Given the description of an element on the screen output the (x, y) to click on. 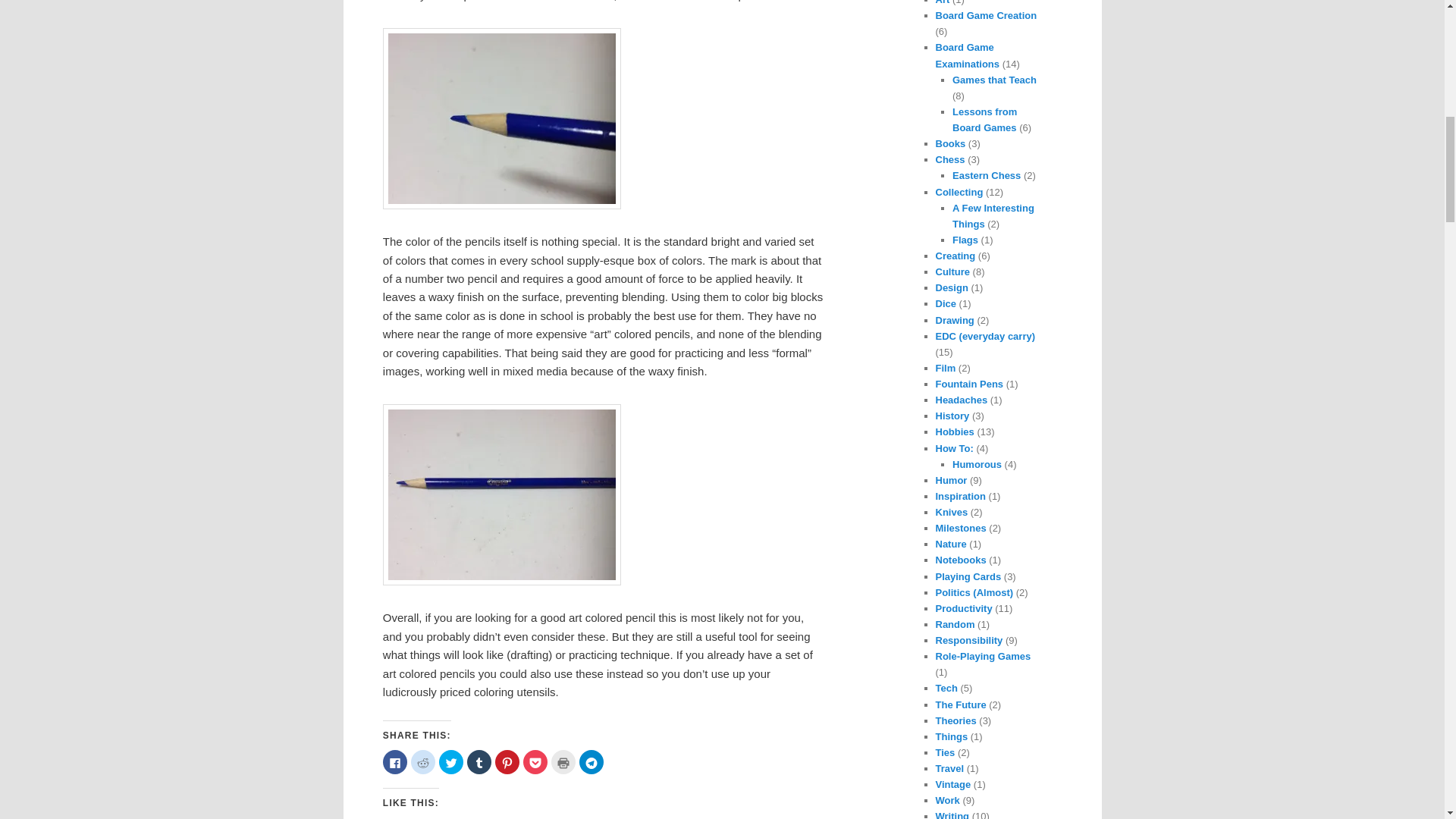
Enter email address (1348, 166)
Here is that lead (501, 117)
Sign me up! (1349, 194)
Click to share on Facebook (394, 761)
Click to share on Reddit (422, 761)
Click to share on Twitter (451, 761)
Click to share on Tumblr (479, 761)
one pencil (501, 494)
